Given the description of an element on the screen output the (x, y) to click on. 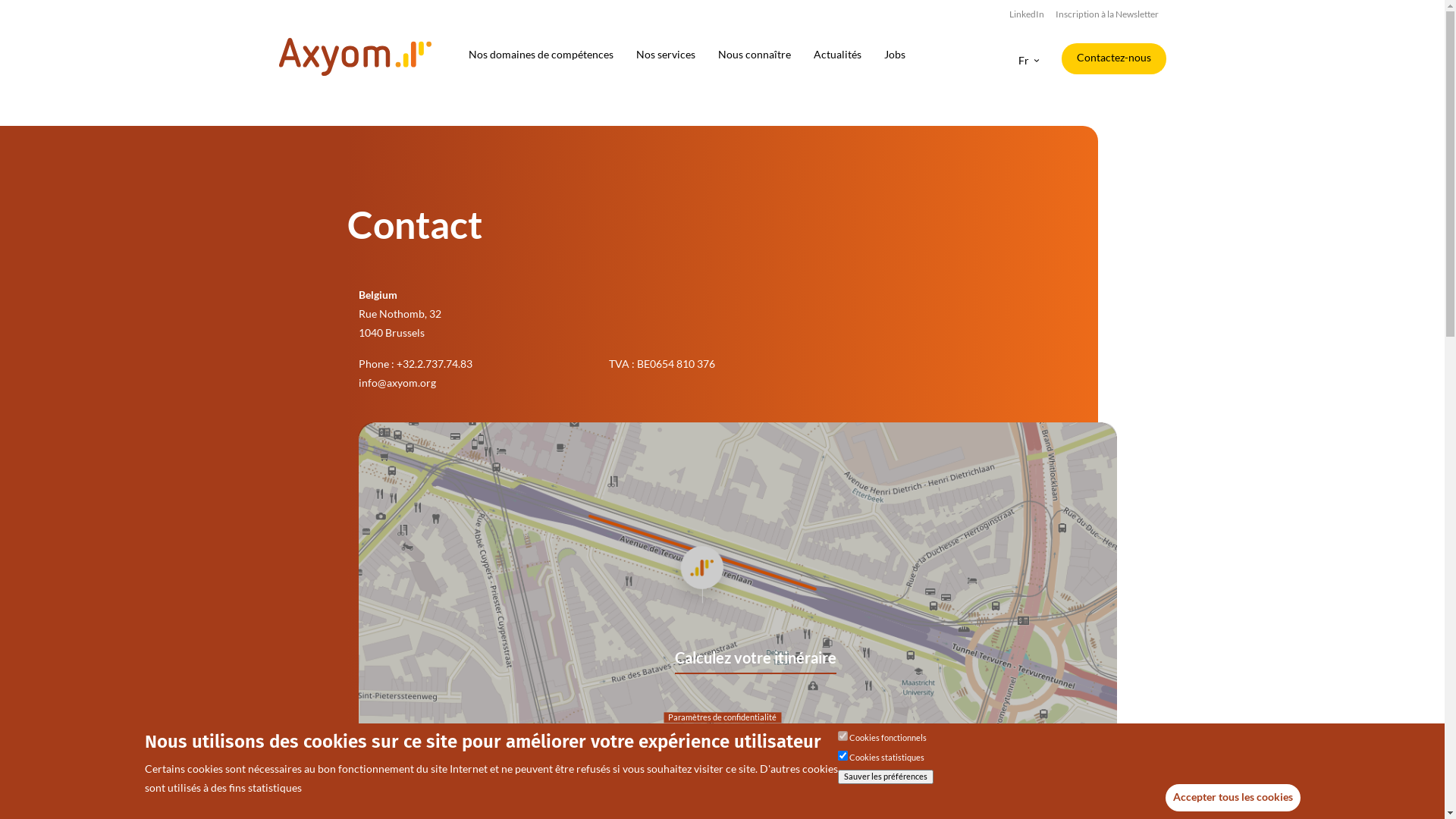
LinkedIn Element type: text (1025, 14)
Retirer le consentement Element type: text (1306, 791)
Contactez-nous Element type: text (1113, 58)
info@axyom.org Element type: text (396, 382)
Jobs Element type: text (894, 54)
+32.2.737.74.83 Element type: text (433, 363)
Accepter tous les cookies Element type: text (1231, 797)
